Given the description of an element on the screen output the (x, y) to click on. 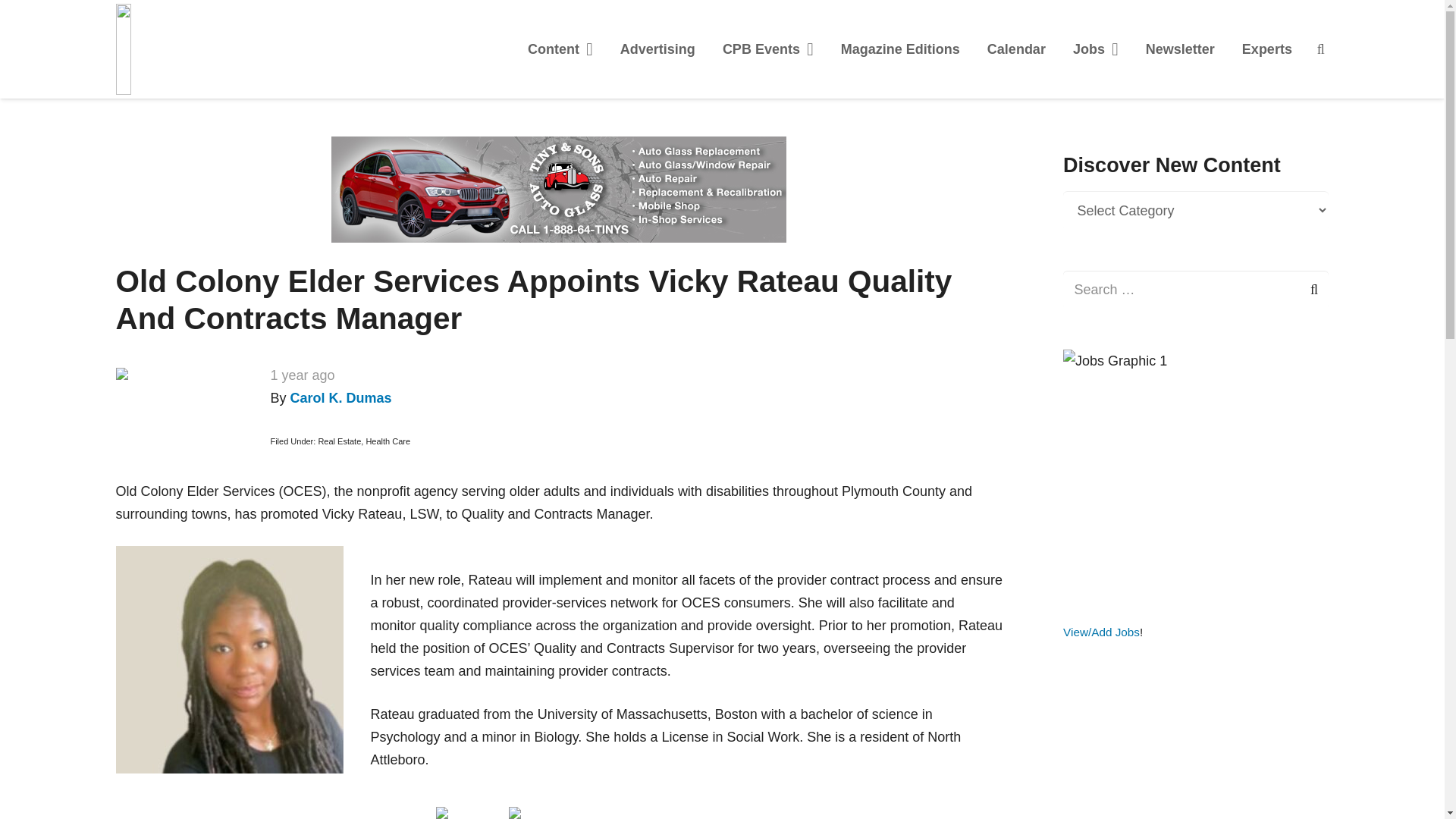
Calendar (1016, 48)
Magazine Editions (900, 48)
CPB Events (768, 48)
Advertising (658, 48)
Experts (1267, 48)
Content (560, 48)
Jobs (1095, 48)
Newsletter (1180, 48)
